Given the description of an element on the screen output the (x, y) to click on. 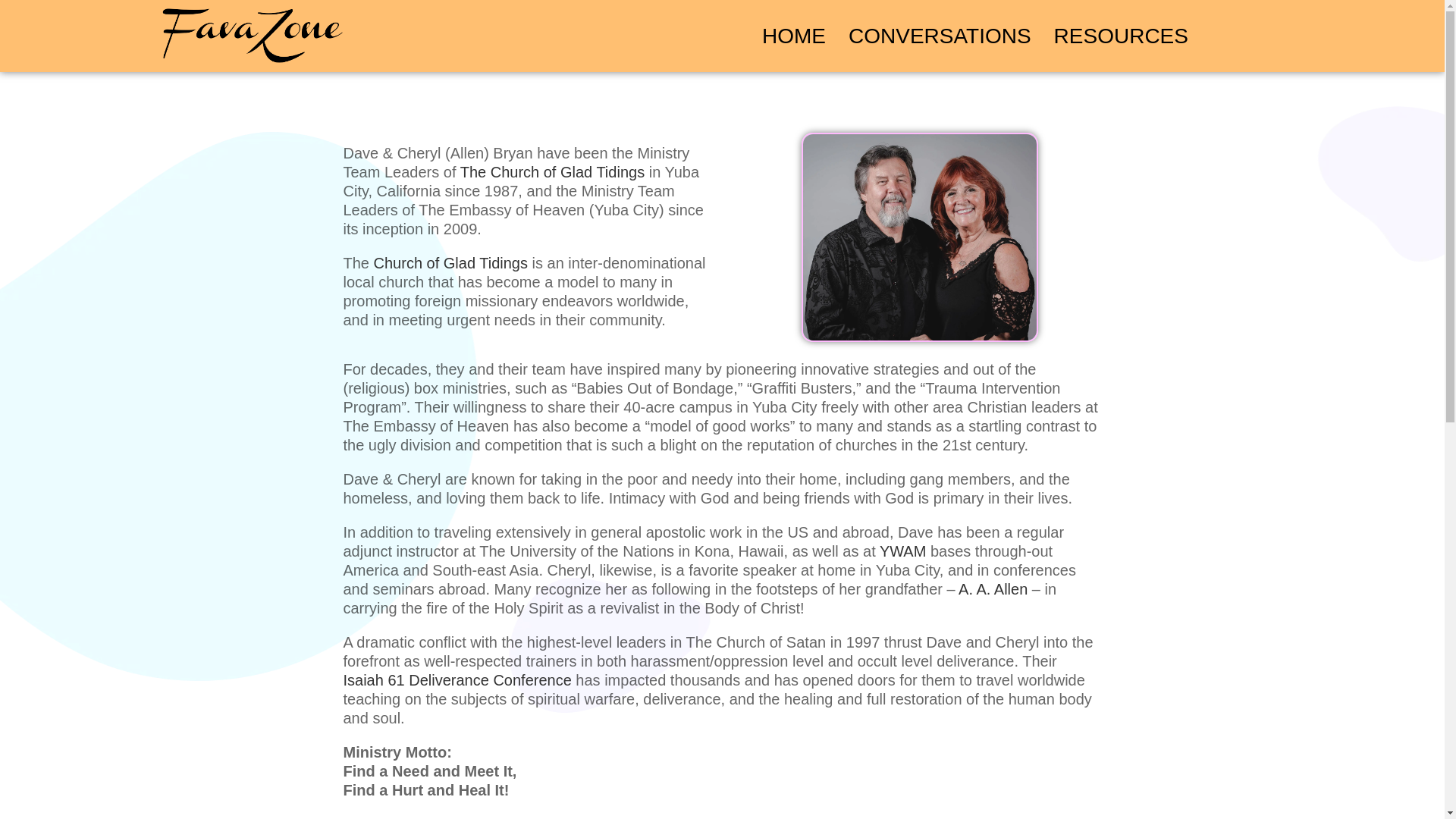
A. A. Allen (992, 598)
CONVERSATIONS (939, 35)
Church of Glad Tidings (438, 270)
RESOURCES (1120, 35)
The Church of Glad Tidings (531, 184)
HOME (794, 35)
YWAM (902, 568)
Isaiah 61 Deliverance Conference (456, 683)
